Given the description of an element on the screen output the (x, y) to click on. 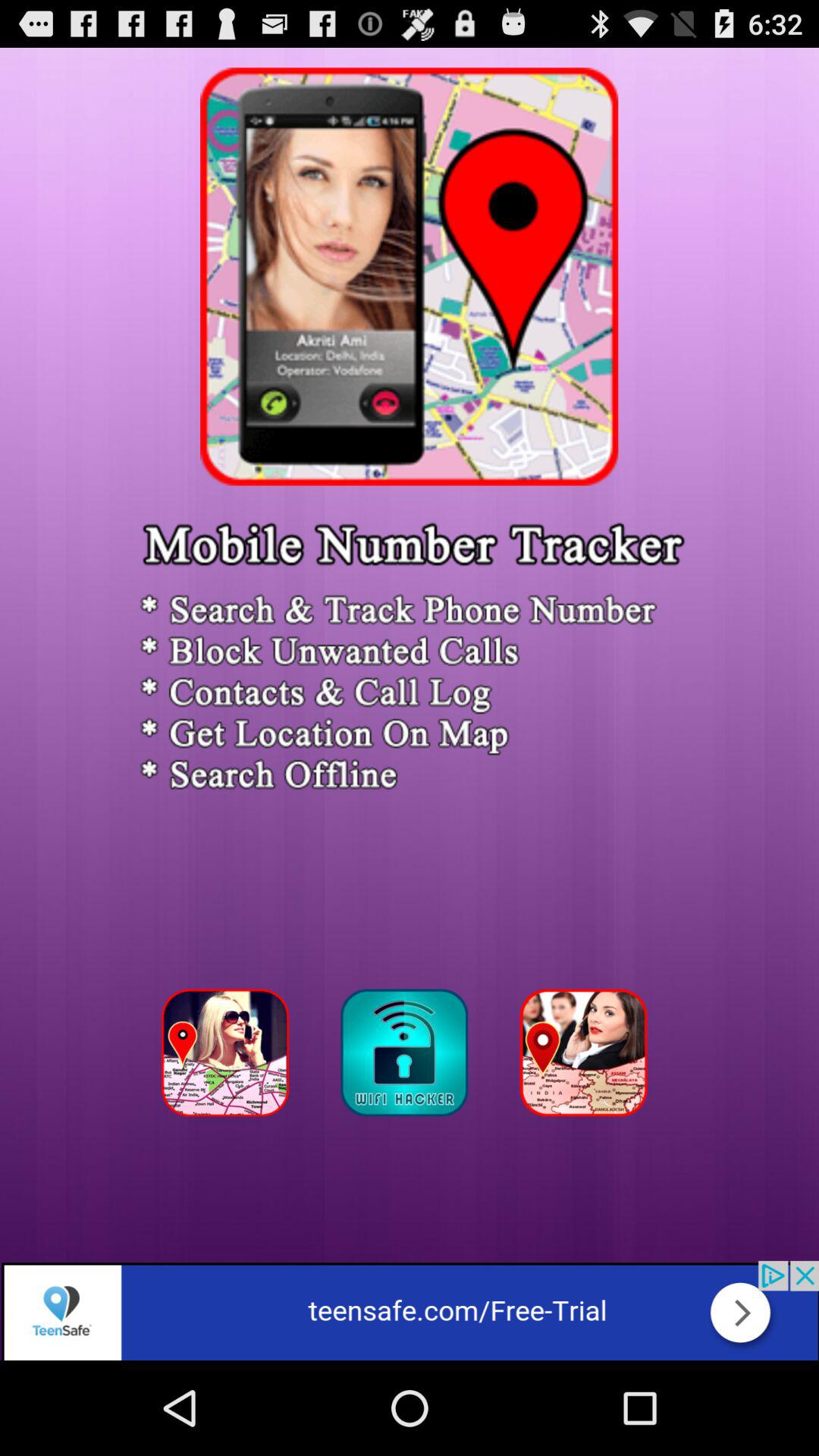
track persons phone (588, 1057)
